Given the description of an element on the screen output the (x, y) to click on. 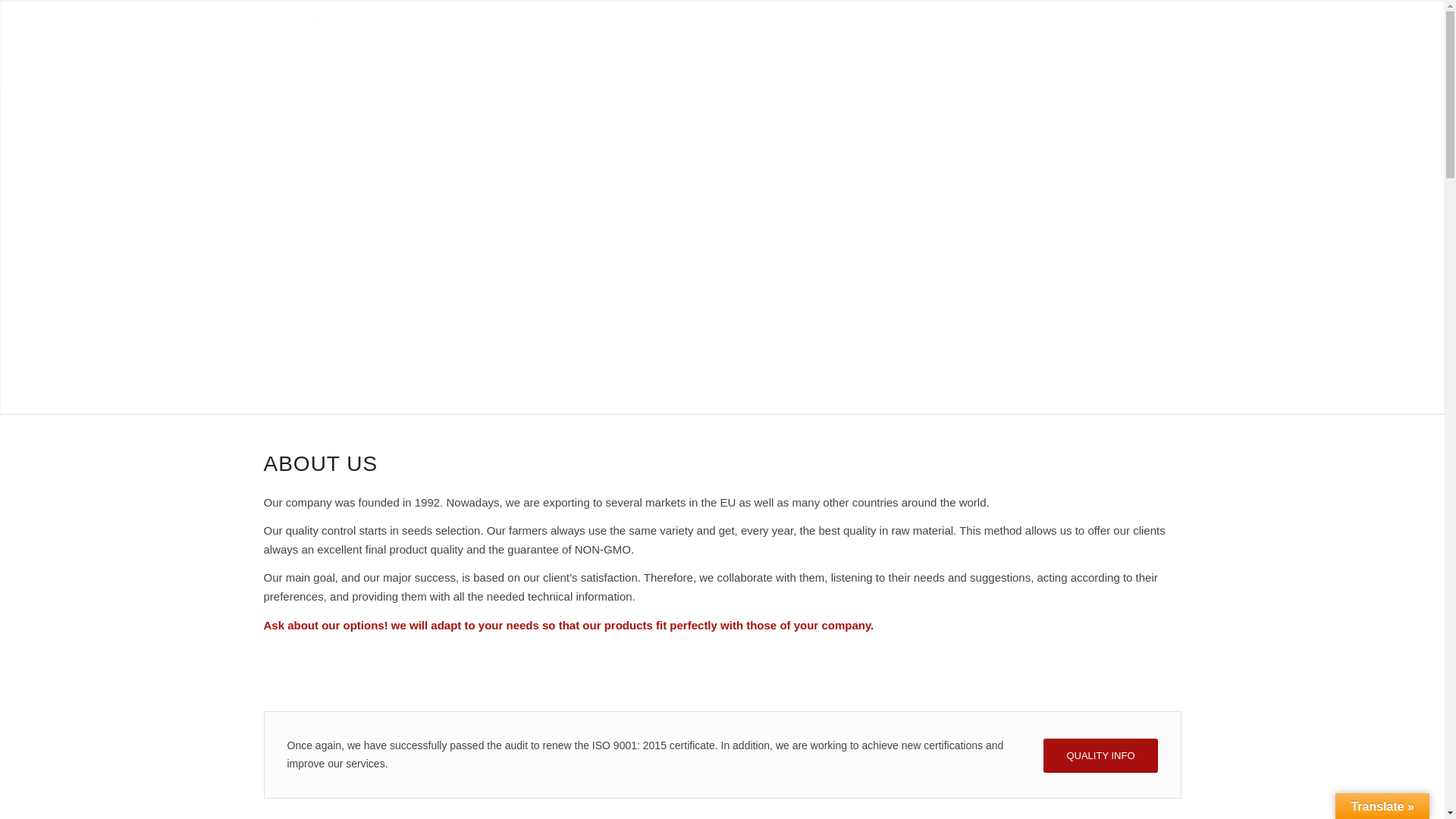
Products (873, 41)
Instagram (1169, 40)
Company (793, 41)
QUALITY INFO (1100, 755)
Contact Us (958, 41)
